Given the description of an element on the screen output the (x, y) to click on. 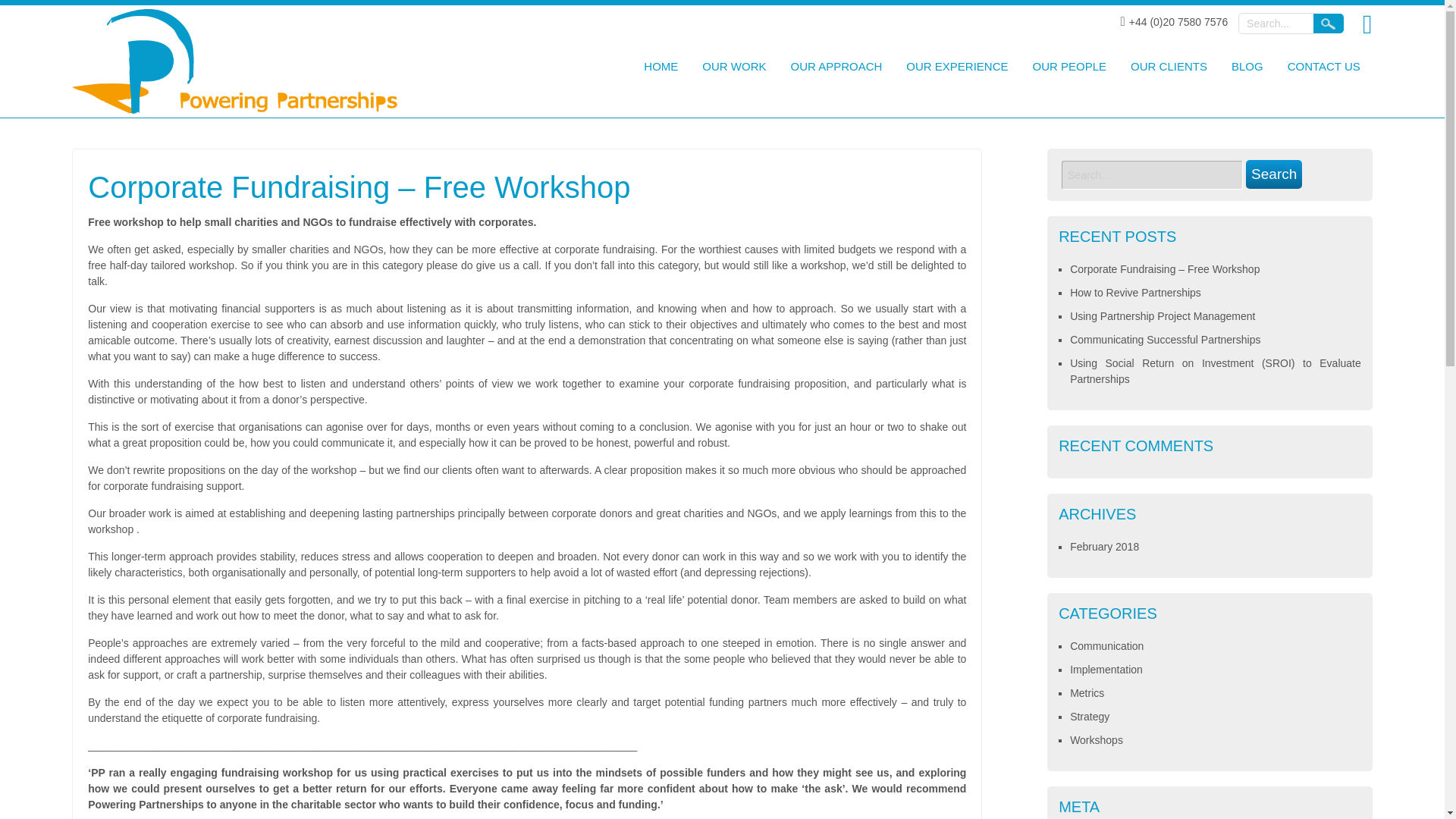
OUR EXPERIENCE (957, 68)
Using Partnership Project Management (1162, 316)
Search (1328, 23)
Communication (1106, 645)
How to Revive Partnerships (1135, 292)
OUR WORK (733, 68)
HOME (659, 68)
OUR APPROACH (835, 68)
Search (1273, 174)
Strategy (1089, 716)
Search (1273, 174)
CONTACT US (1323, 68)
Metrics (1086, 693)
Workshops (1096, 739)
Implementation (1106, 669)
